Given the description of an element on the screen output the (x, y) to click on. 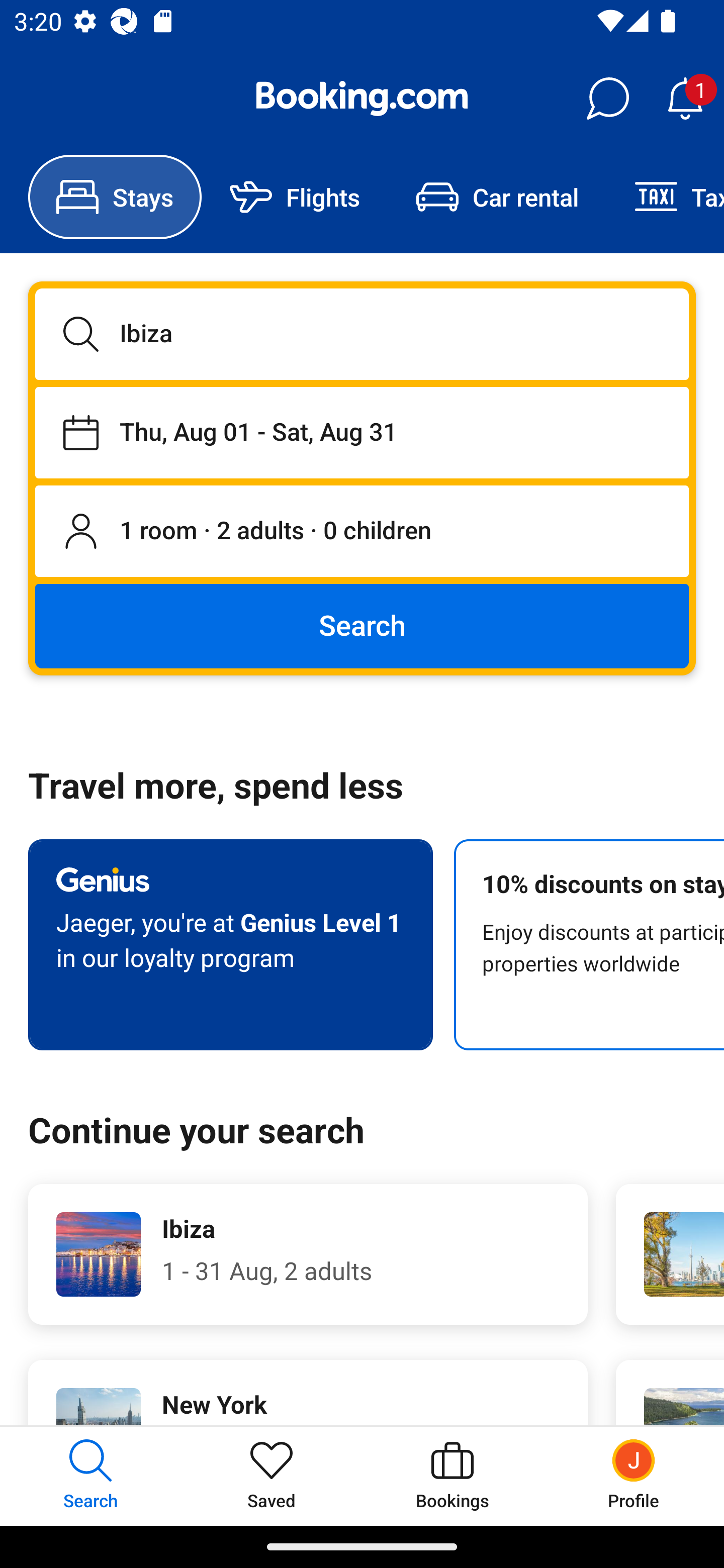
Messages (607, 98)
Notifications (685, 98)
Stays (114, 197)
Flights (294, 197)
Car rental (497, 197)
Taxi (665, 197)
Ibiza (361, 333)
Staying from Thu, Aug 01 until Sat, Aug 31 (361, 432)
1 room, 2 adults, 0 children (361, 531)
Search (361, 625)
Ibiza 1 - 31 Aug, 2 adults (307, 1253)
Saved (271, 1475)
Bookings (452, 1475)
Profile (633, 1475)
